Given the description of an element on the screen output the (x, y) to click on. 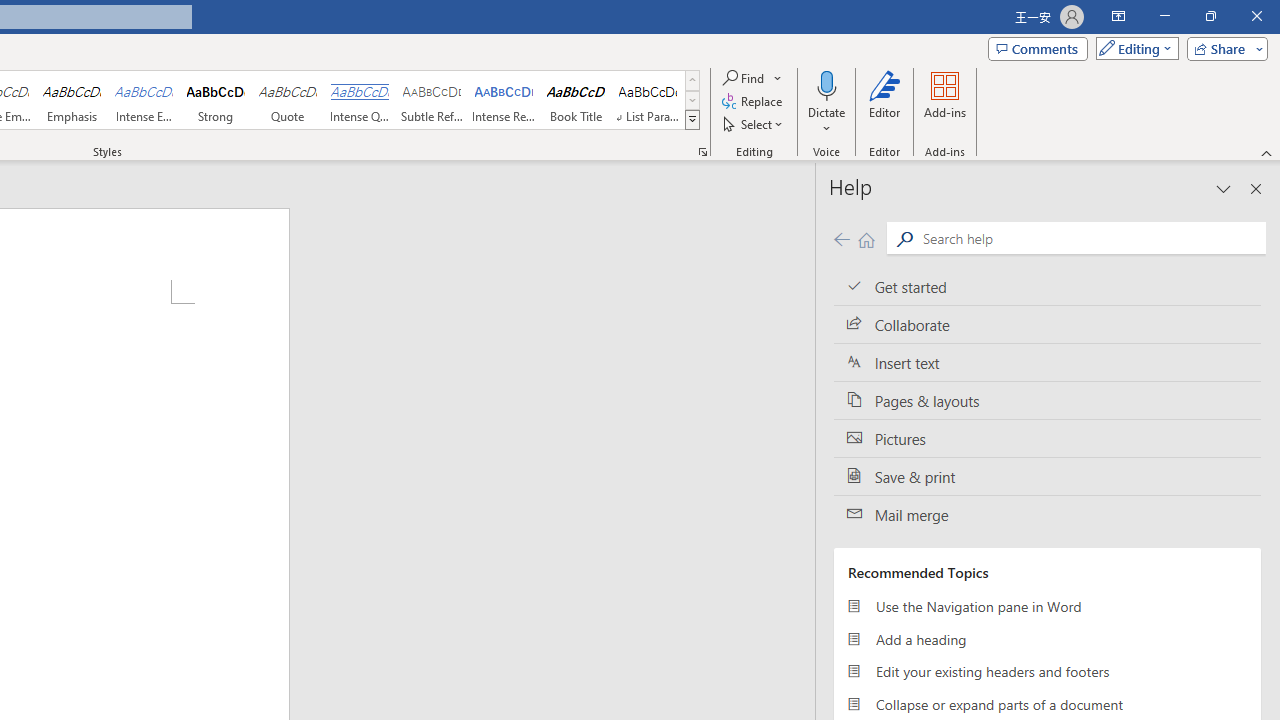
Mail merge (1047, 515)
Get started (1047, 286)
Replace... (753, 101)
Pages & layouts (1047, 400)
Insert text (1047, 363)
Collapse or expand parts of a document (1047, 704)
Row up (692, 79)
Styles (692, 120)
Mode (1133, 47)
